Given the description of an element on the screen output the (x, y) to click on. 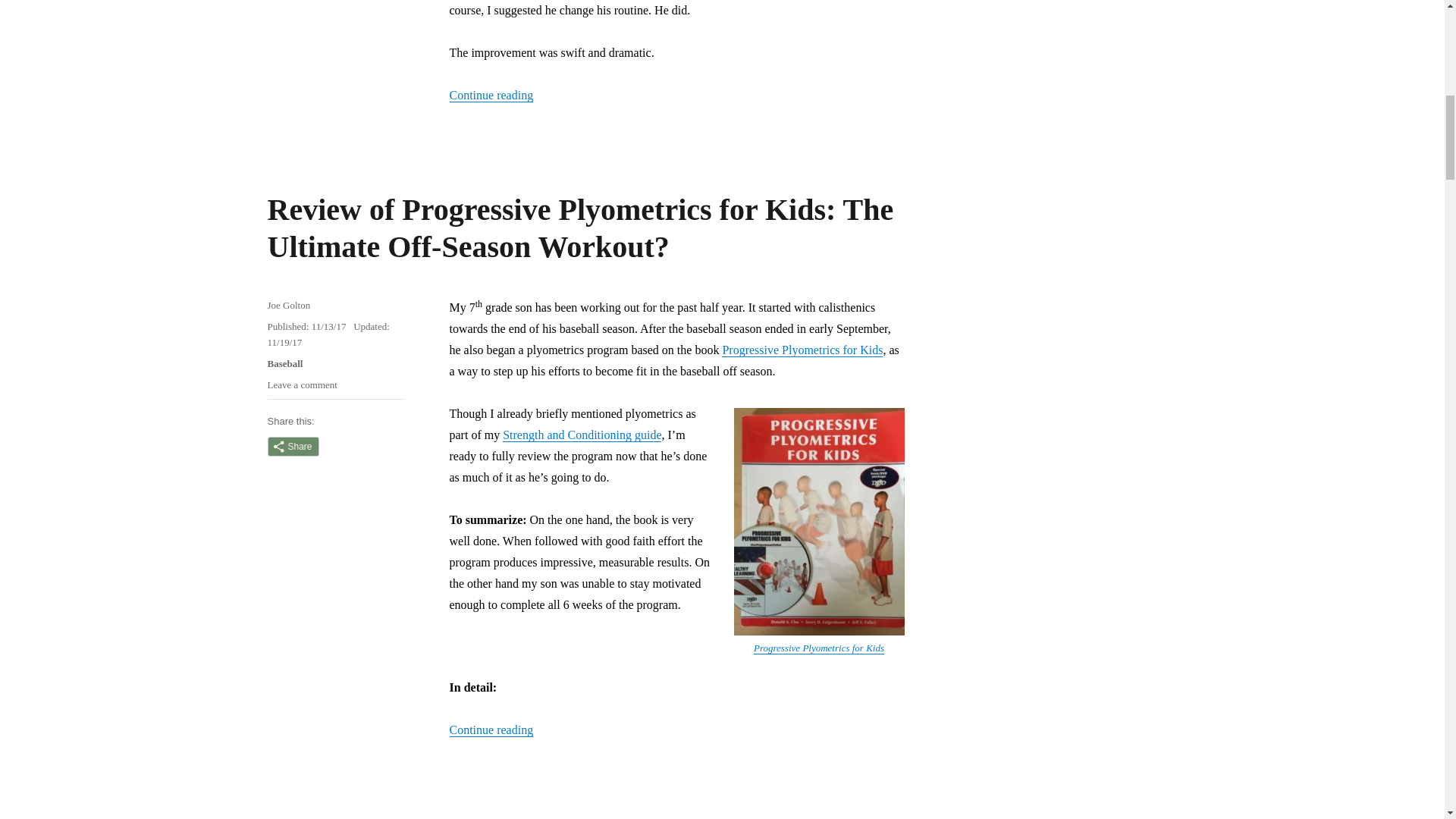
Strength and Conditioning guide (581, 433)
Joe Golton (288, 305)
Share (292, 446)
Progressive Plyometrics for Kids (818, 646)
Progressive Plyometrics for Kids (802, 349)
Baseball (284, 363)
